Given the description of an element on the screen output the (x, y) to click on. 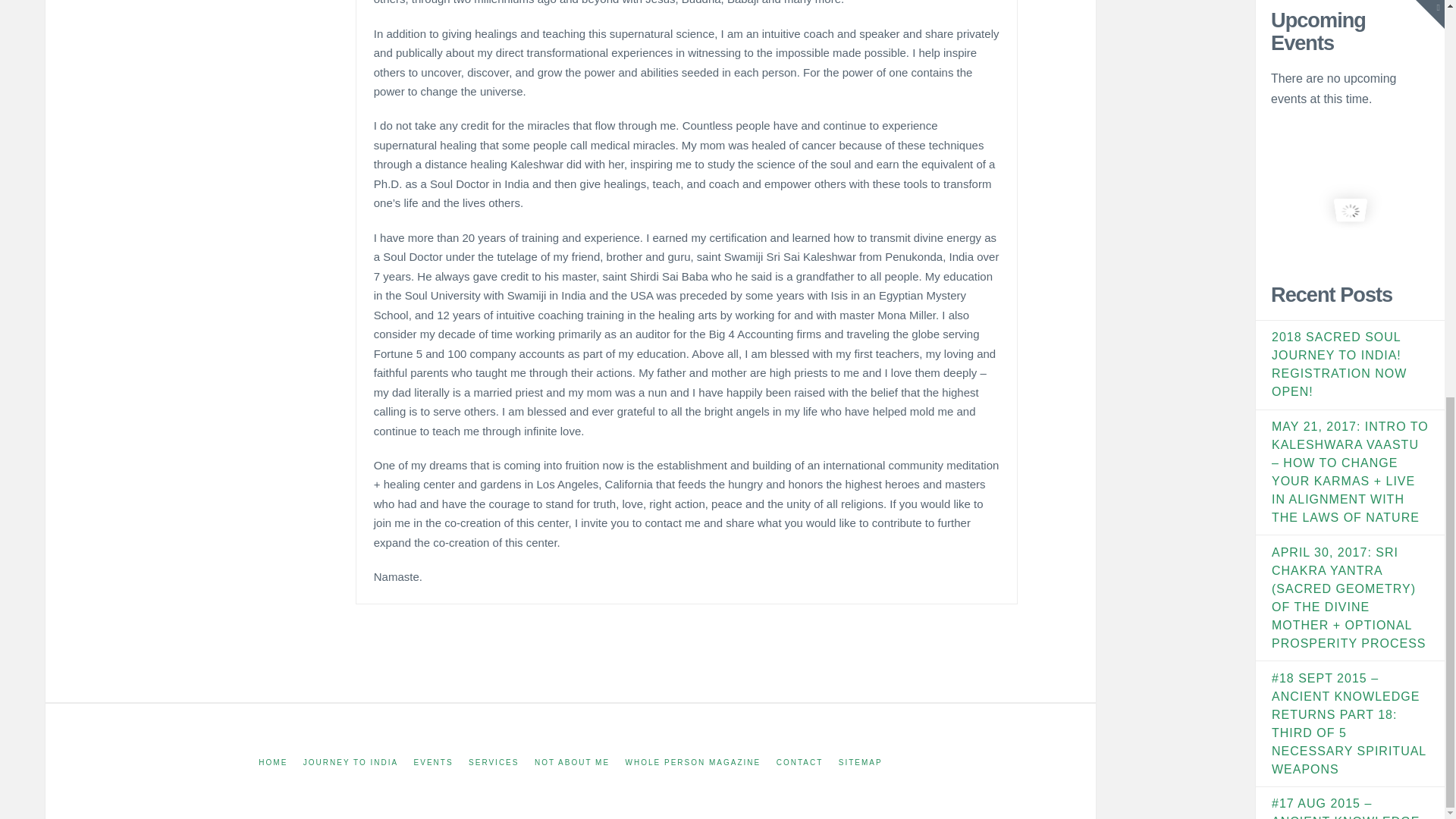
Sign Me Up (1350, 473)
Saturday (1395, 577)
Tuesday (1305, 577)
Friday (1372, 577)
View posts for September 2017 (1304, 741)
Monday (1282, 577)
Wednesday (1327, 577)
Sunday (1417, 577)
Sign Me Up (1350, 473)
Thursday (1349, 577)
